Given the description of an element on the screen output the (x, y) to click on. 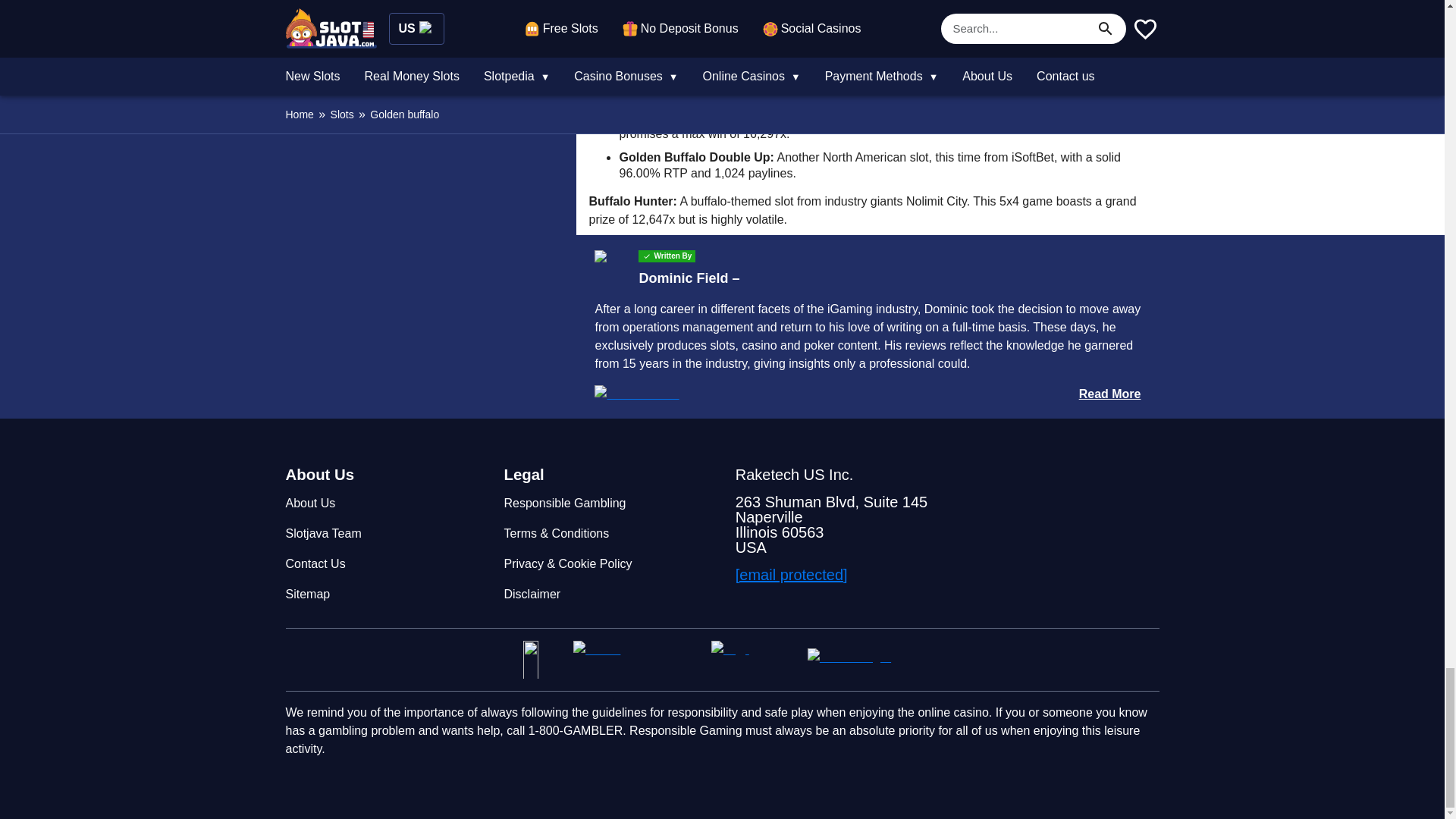
SlotJava.com partner (864, 659)
SlotJava.com partner (635, 659)
SlotJava.com partner (541, 659)
SlotJava.com partner (752, 659)
